Given the description of an element on the screen output the (x, y) to click on. 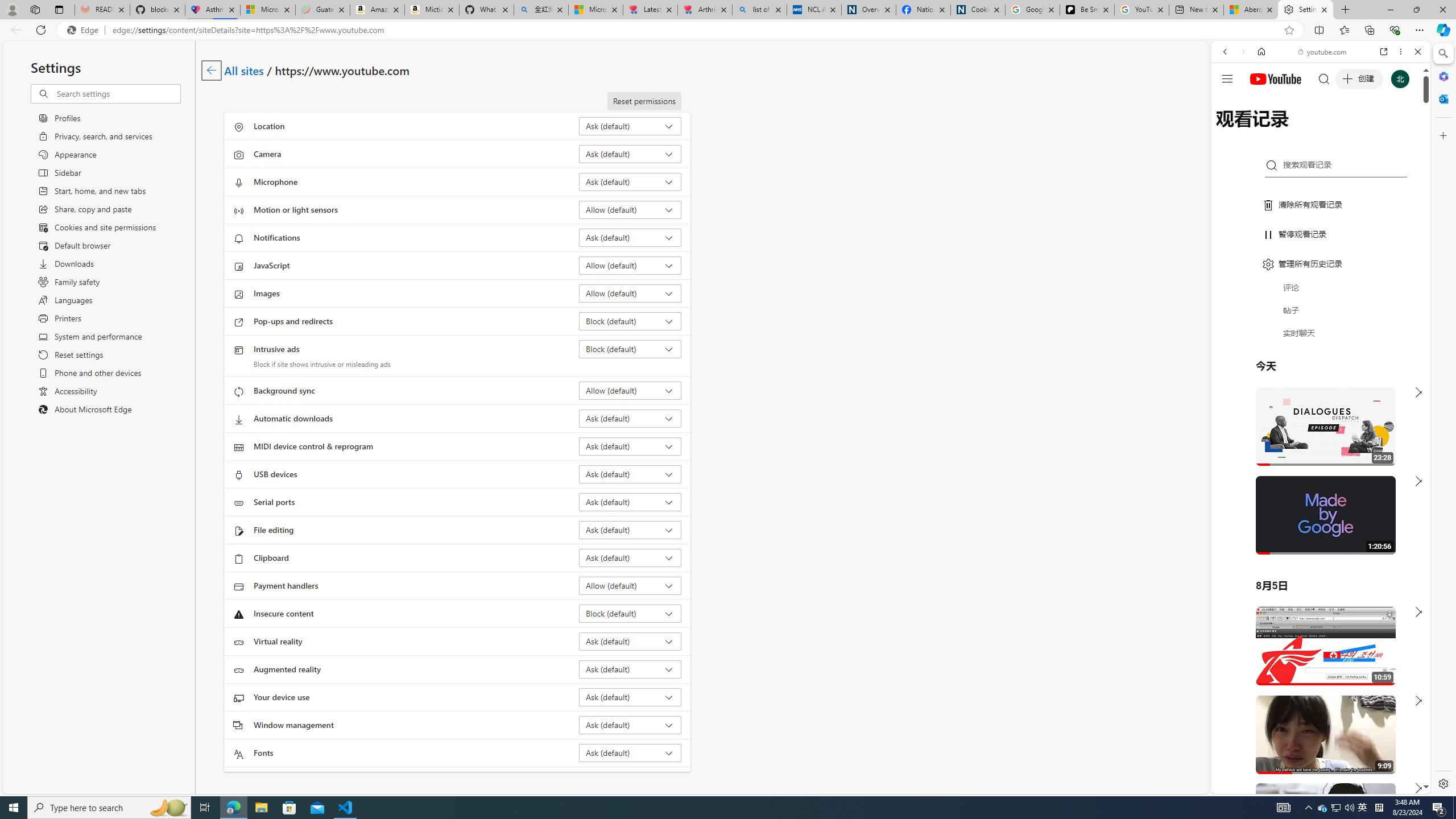
Class: dict_pnIcon rms_img (1312, 784)
Motion or light sensors Allow (default) (630, 209)
Insecure content Block (default) (630, 613)
Window management Ask (default) (630, 724)
Search settings (117, 93)
All sites (244, 69)
Edge (84, 29)
